Given the description of an element on the screen output the (x, y) to click on. 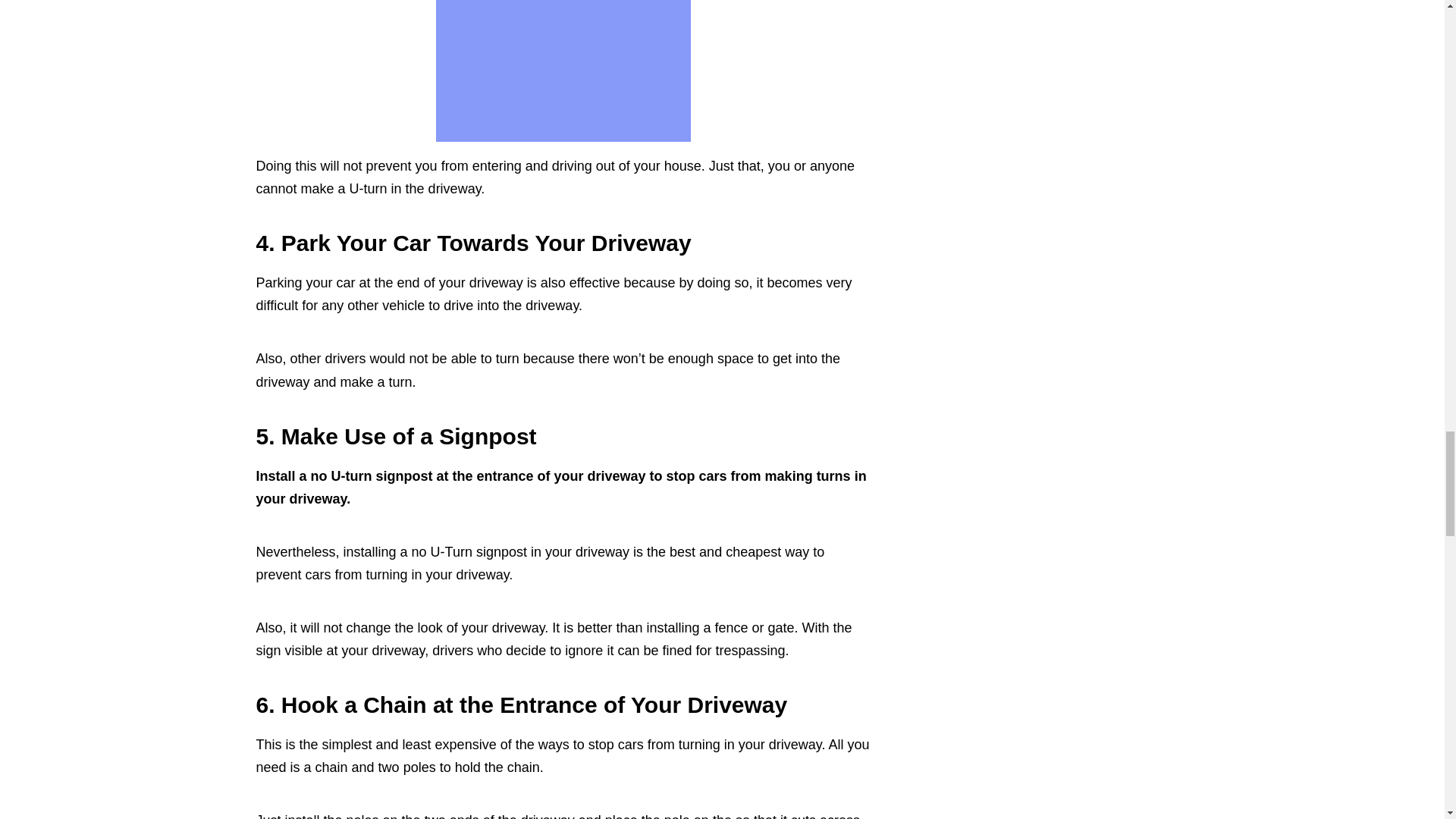
Parking your car (305, 282)
